Given the description of an element on the screen output the (x, y) to click on. 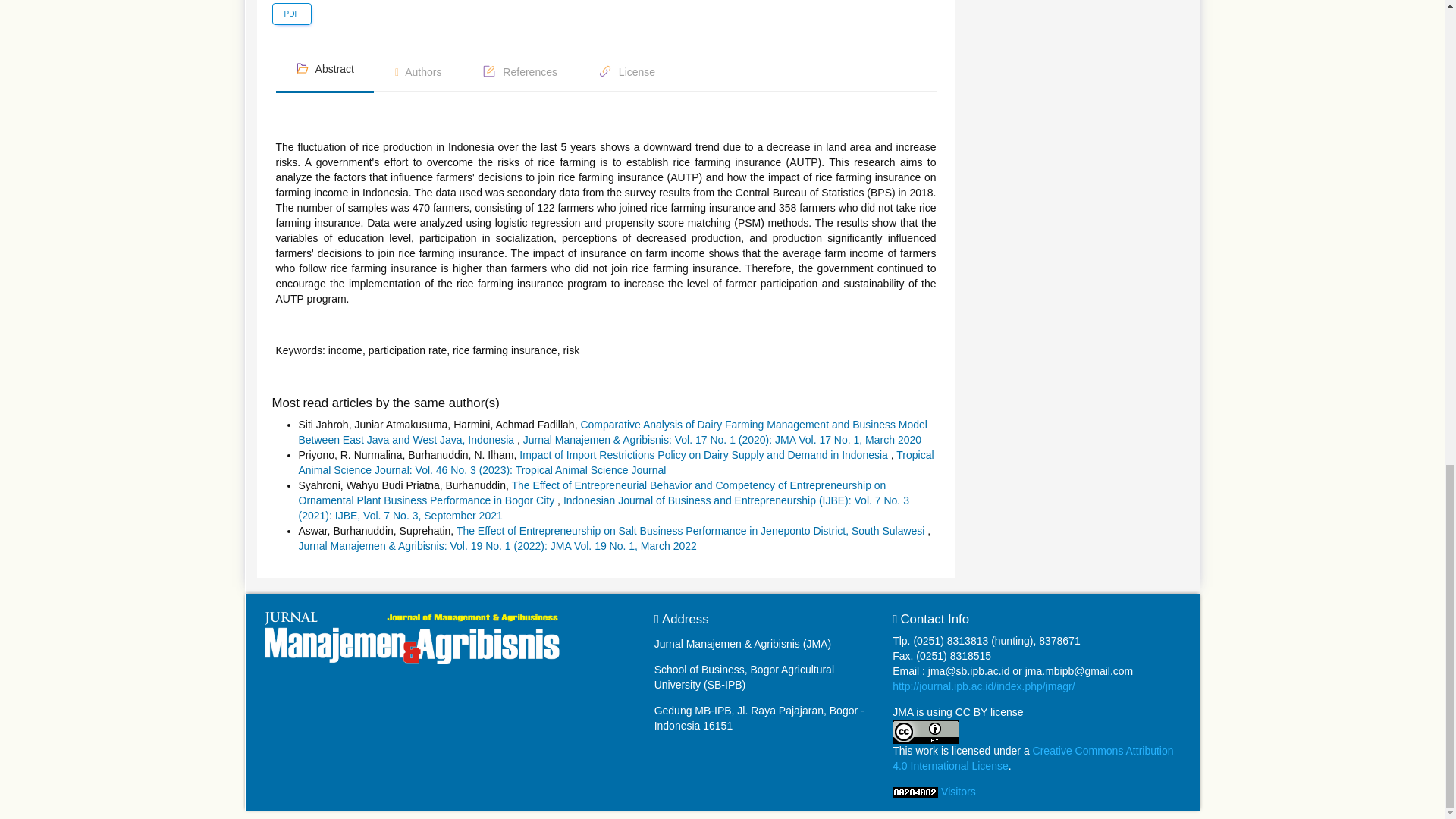
PDF (290, 14)
Abstract (325, 69)
License (626, 72)
Web Analytics (914, 791)
References (519, 72)
Authors (418, 72)
